Given the description of an element on the screen output the (x, y) to click on. 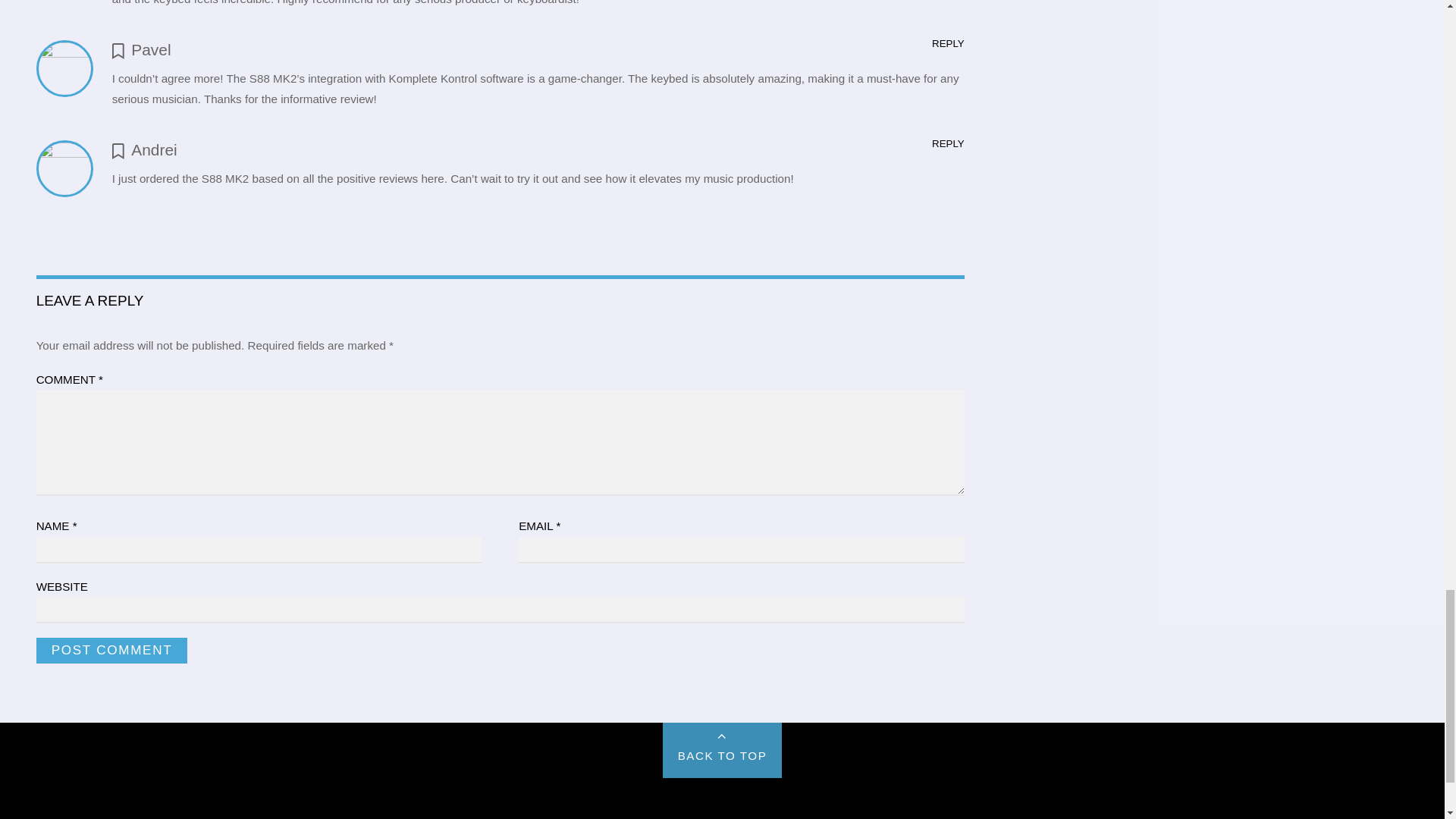
REPLY (947, 143)
REPLY (947, 43)
Post Comment (111, 650)
Post Comment (111, 650)
